Given the description of an element on the screen output the (x, y) to click on. 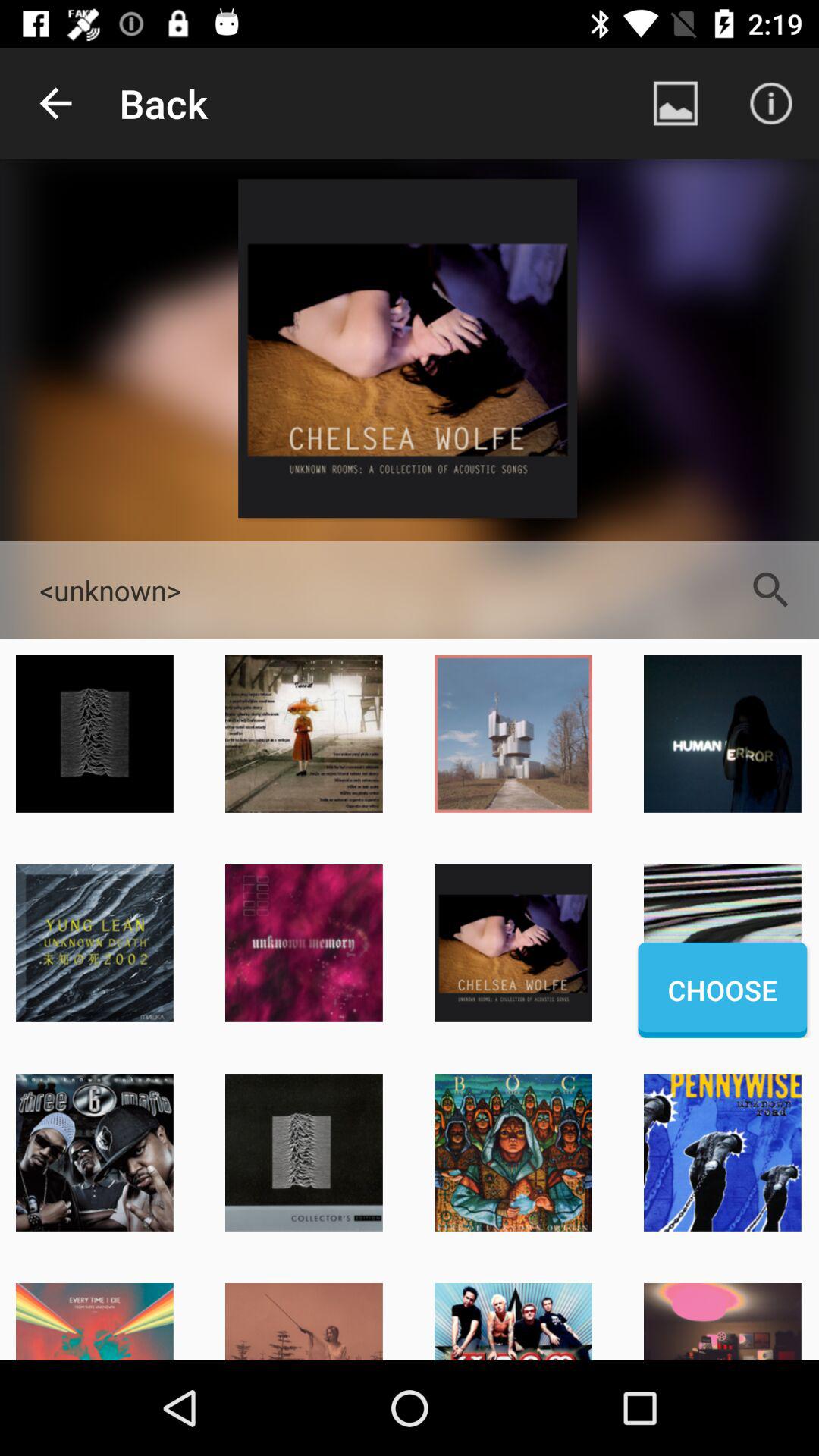
select the app to the right of the <unknown> item (771, 590)
